Given the description of an element on the screen output the (x, y) to click on. 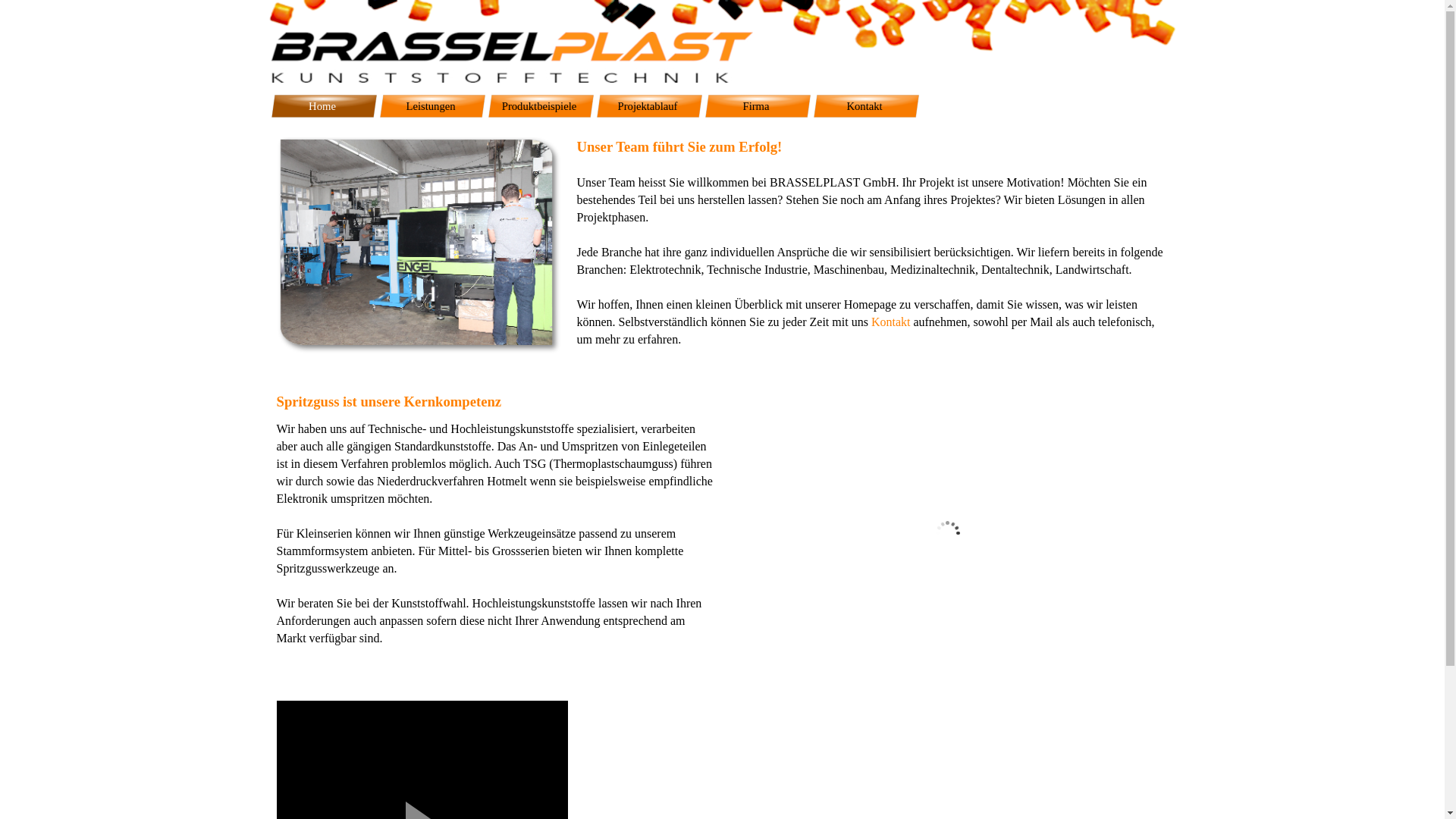
Kontakt Element type: text (865, 105)
Produktbeispiele Element type: text (541, 105)
Leistungen Element type: text (432, 105)
Home Element type: text (324, 105)
Kontakt Element type: text (890, 321)
Projektablauf Element type: text (649, 105)
Firma Element type: text (758, 105)
